Given the description of an element on the screen output the (x, y) to click on. 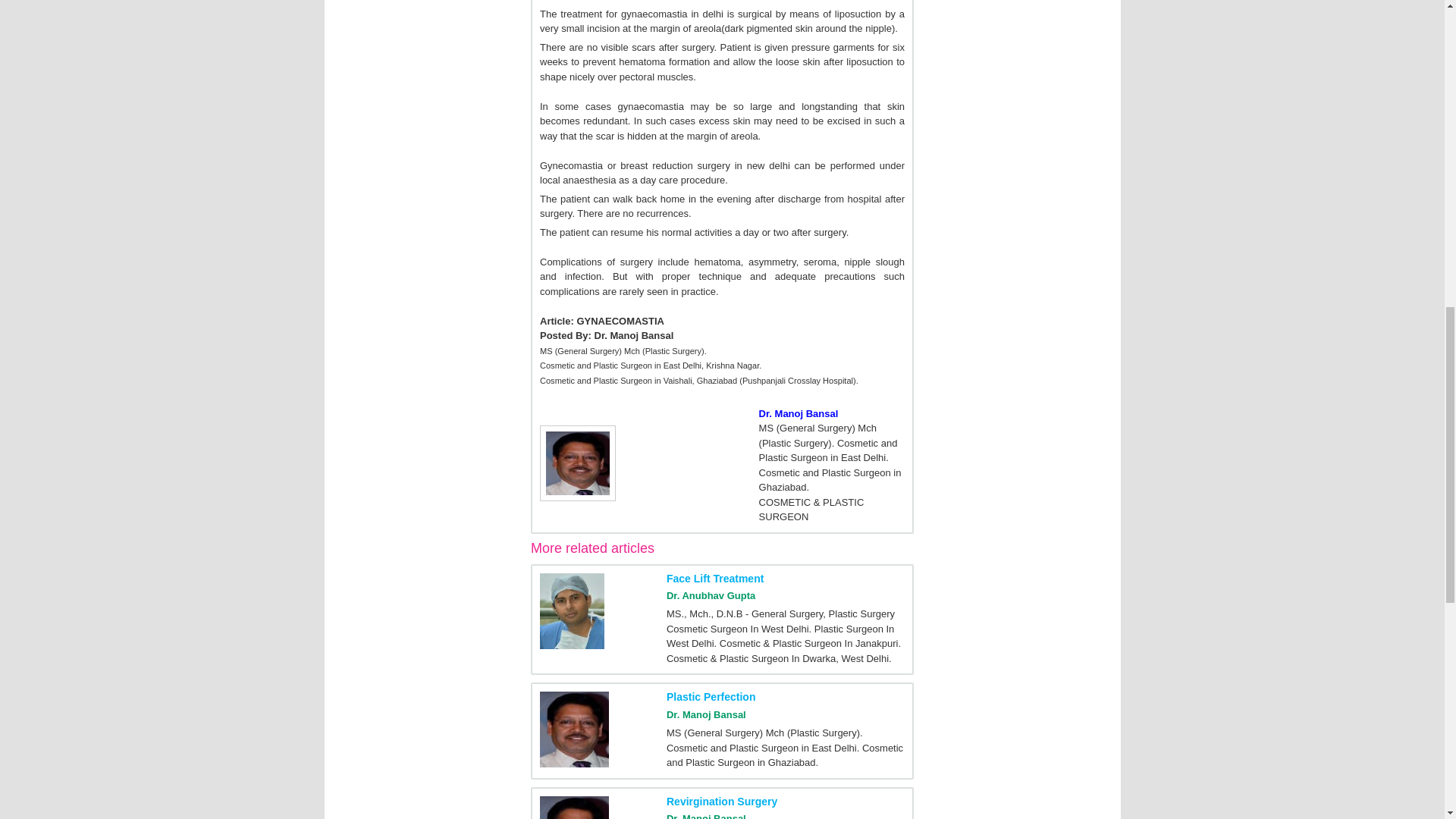
Dr. Manoj Bansal (705, 816)
Face Lift Treatment (714, 578)
Dr. Anubhav Gupta (710, 595)
Dr. Manoj Bansal (705, 714)
Plastic Perfection (710, 696)
Dr. Manoj Bansal (798, 413)
Revirgination Surgery (721, 801)
